Given the description of an element on the screen output the (x, y) to click on. 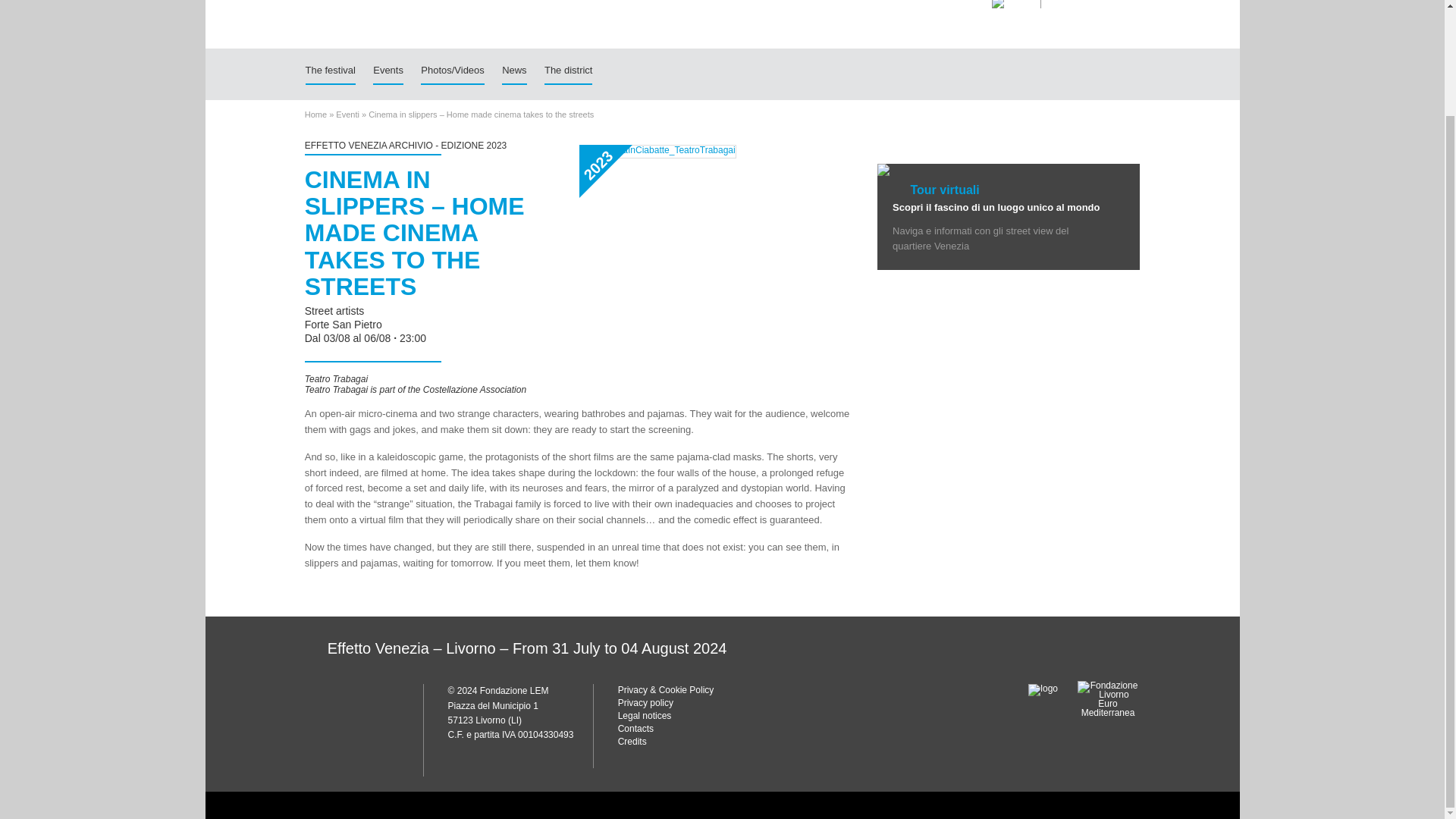
The festival (329, 70)
The district (568, 70)
Events (387, 70)
Home (315, 113)
Vai a Effetto Venezia - Livorno. (315, 113)
Eventi (347, 113)
Vai a Eventi. (347, 113)
